Given the description of an element on the screen output the (x, y) to click on. 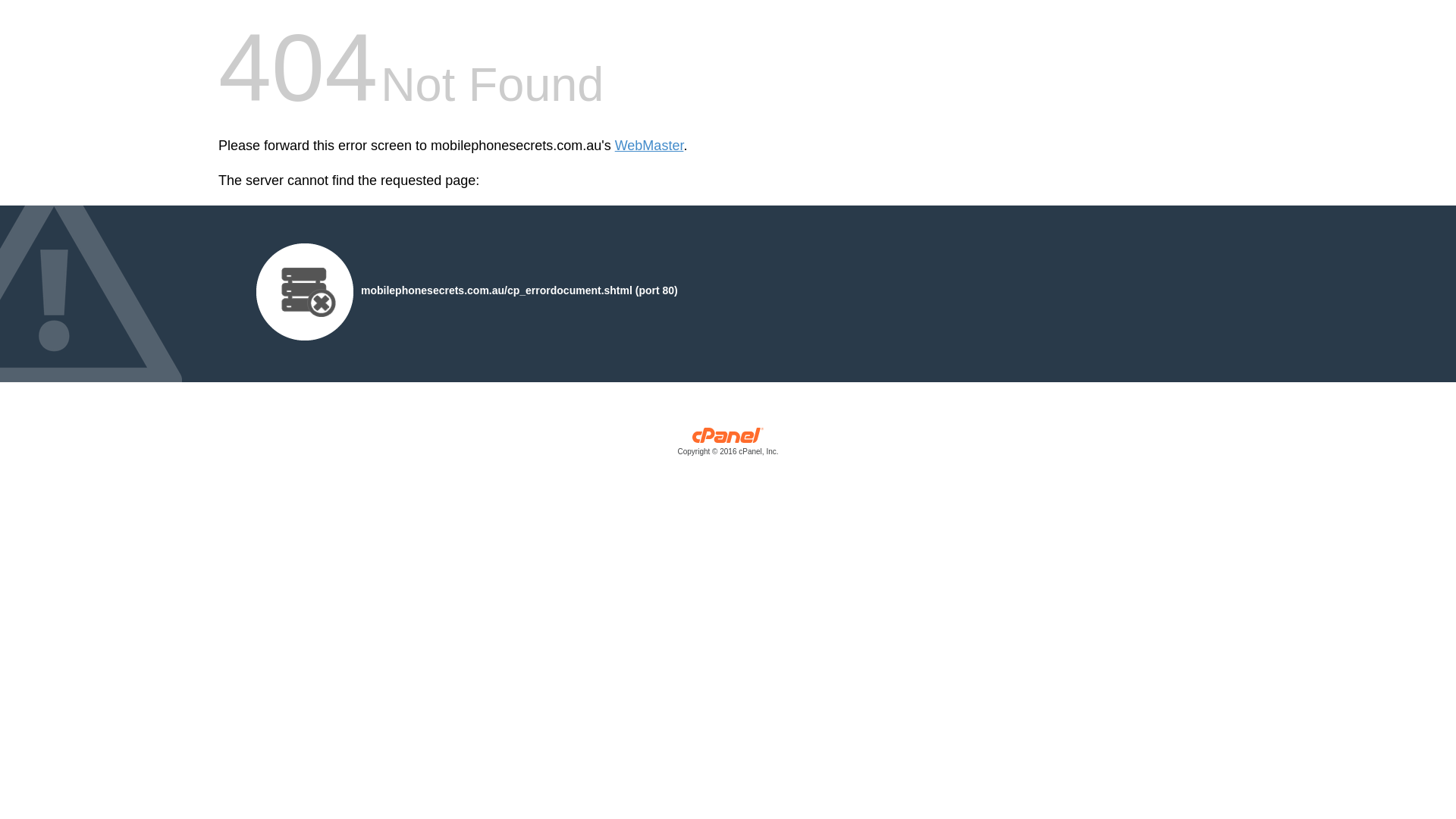
WebMaster Element type: text (649, 145)
